Given the description of an element on the screen output the (x, y) to click on. 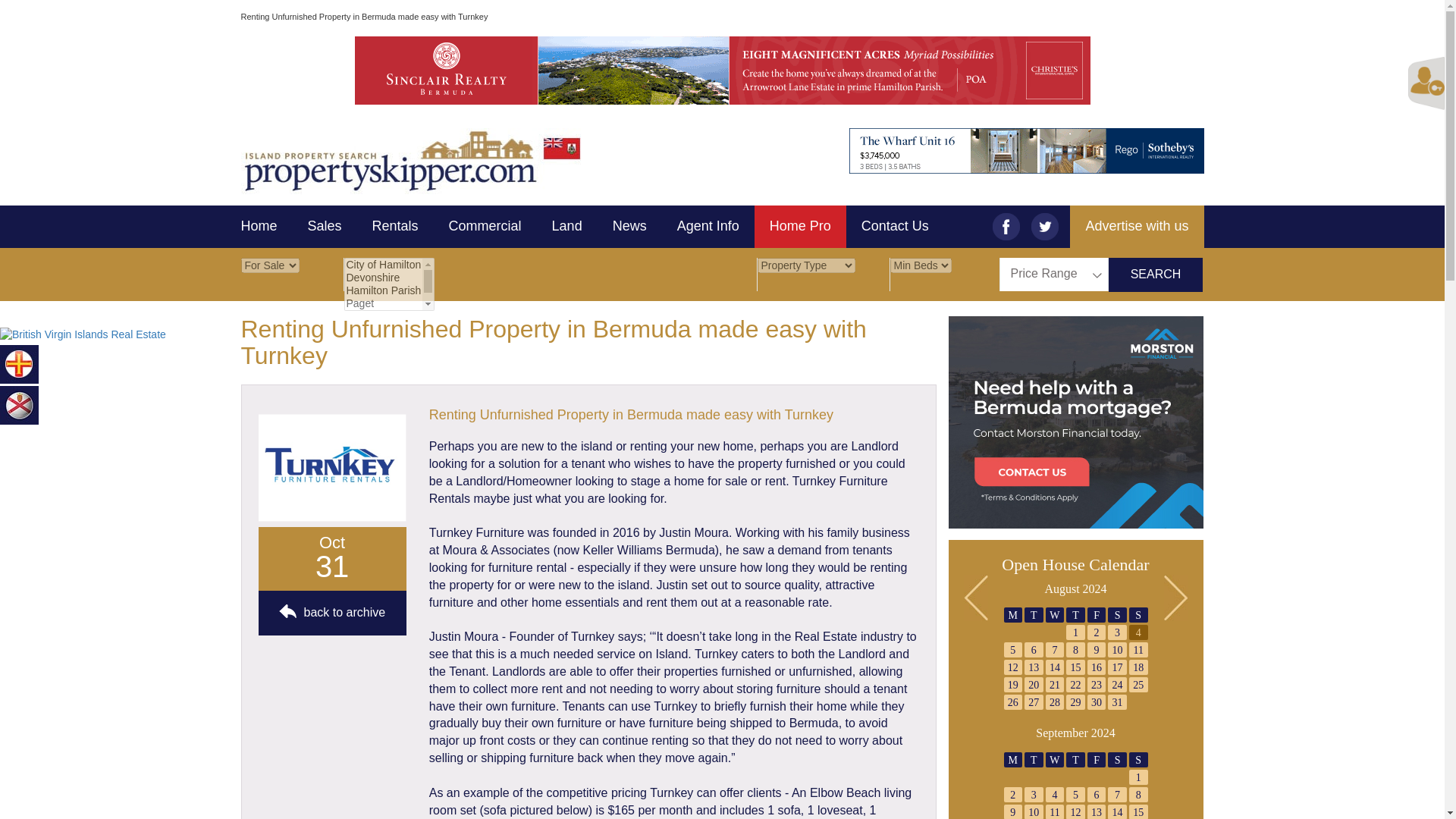
Contact Us (894, 226)
Commercial (485, 226)
Sales (324, 226)
British Virgin Islands Real Estate (82, 334)
Advertise with us (1137, 226)
Christies Sinclair Realty (721, 70)
Min Beds (920, 264)
Home Pro (799, 226)
Guernsey Property (19, 363)
News (629, 226)
Land (566, 226)
Search Property Services (799, 226)
Agent Info (708, 226)
Rentals (394, 226)
Jersey Property (19, 404)
